Given the description of an element on the screen output the (x, y) to click on. 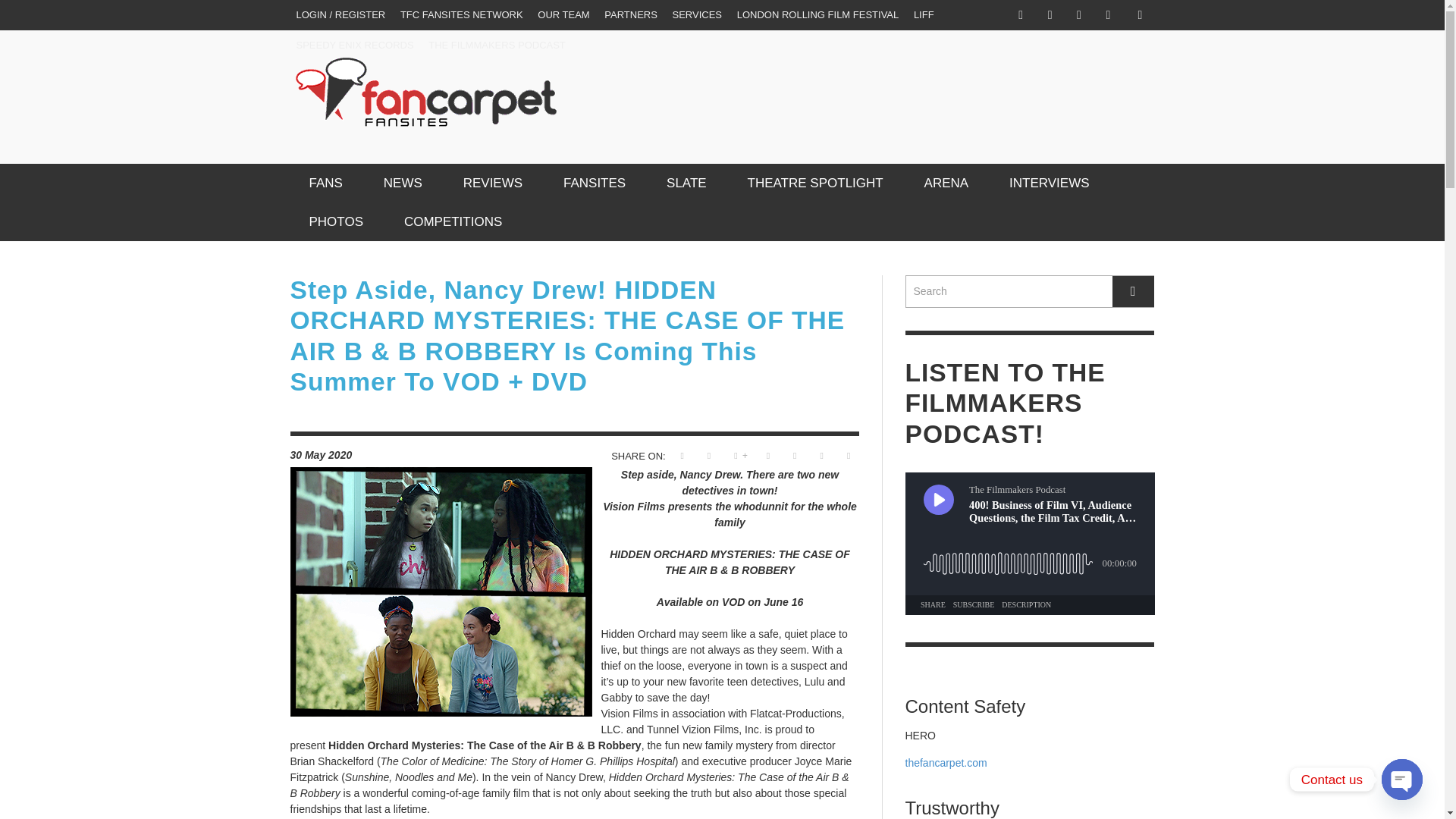
Instagram (1049, 15)
Search (1029, 291)
Youtube (1107, 15)
Twitter (1078, 15)
Facebook (1020, 15)
